Given the description of an element on the screen output the (x, y) to click on. 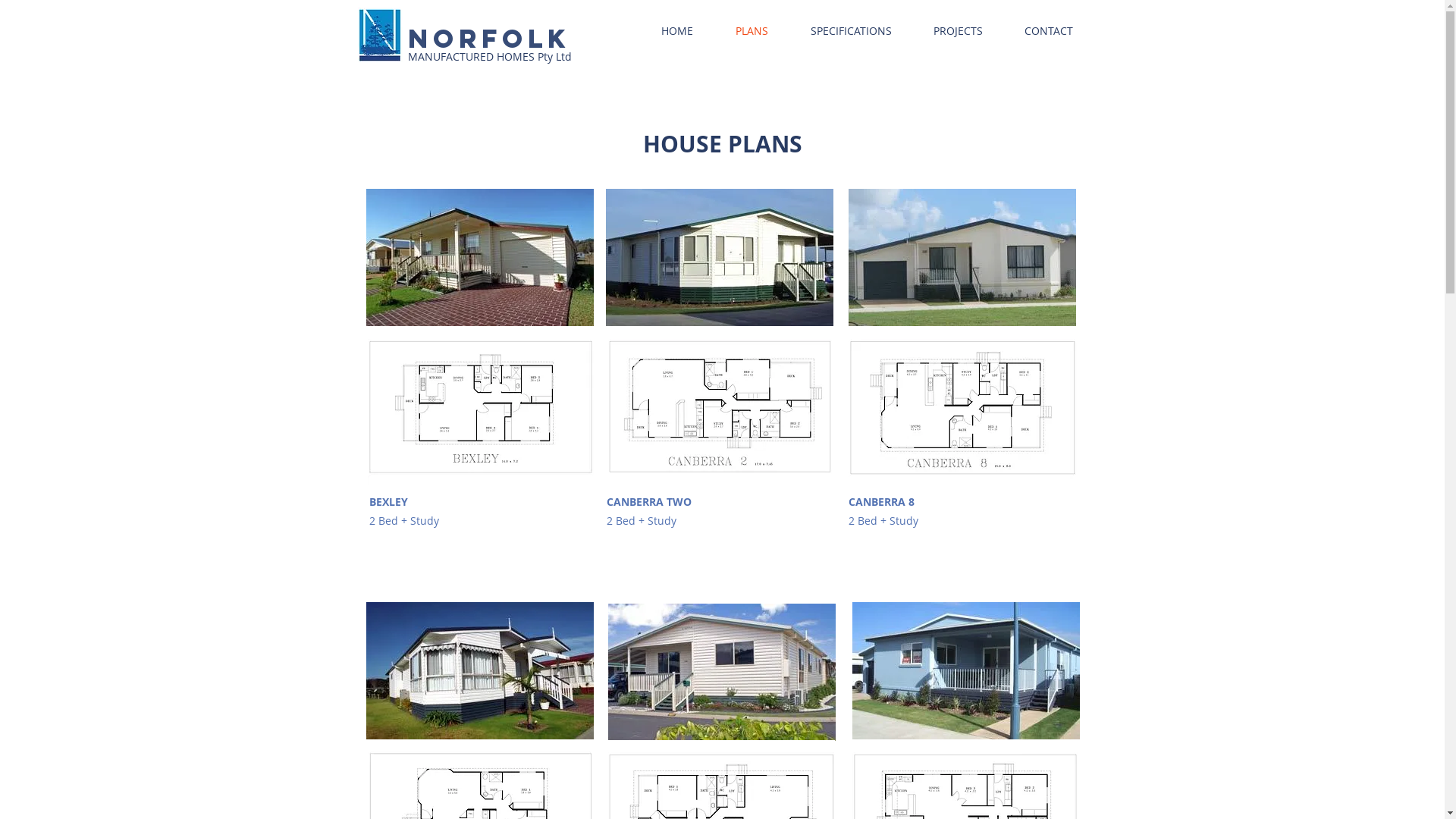
SPECIFICATIONS Element type: text (850, 30)
PLANS Element type: text (751, 30)
HOME Element type: text (677, 30)
CONTACT Element type: text (1049, 30)
PROJECTS Element type: text (958, 30)
